Given the description of an element on the screen output the (x, y) to click on. 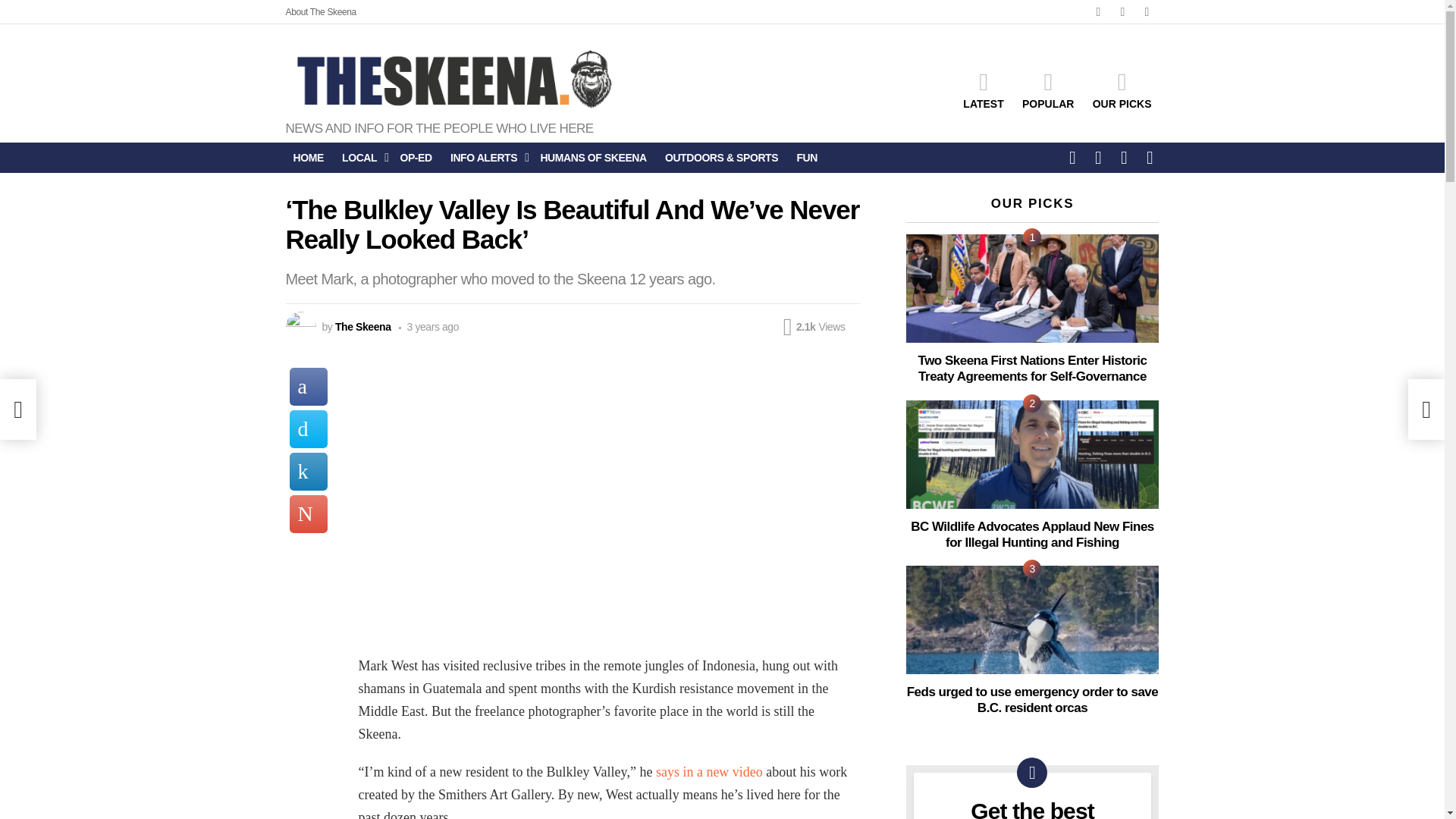
POPULAR (1047, 89)
SEARCH (1097, 157)
About The Skeena (320, 12)
INFO ALERTS (485, 157)
HUMANS OF SKEENA (592, 157)
twitter (1121, 11)
Share on LinkedIn (308, 471)
instagram (1146, 11)
Share on Gmail (308, 514)
FOLLOW US (1071, 157)
Posts by The Skeena (362, 326)
April 29, 2021, 12:55 am (429, 326)
LATEST (982, 89)
HOME (307, 157)
